Given the description of an element on the screen output the (x, y) to click on. 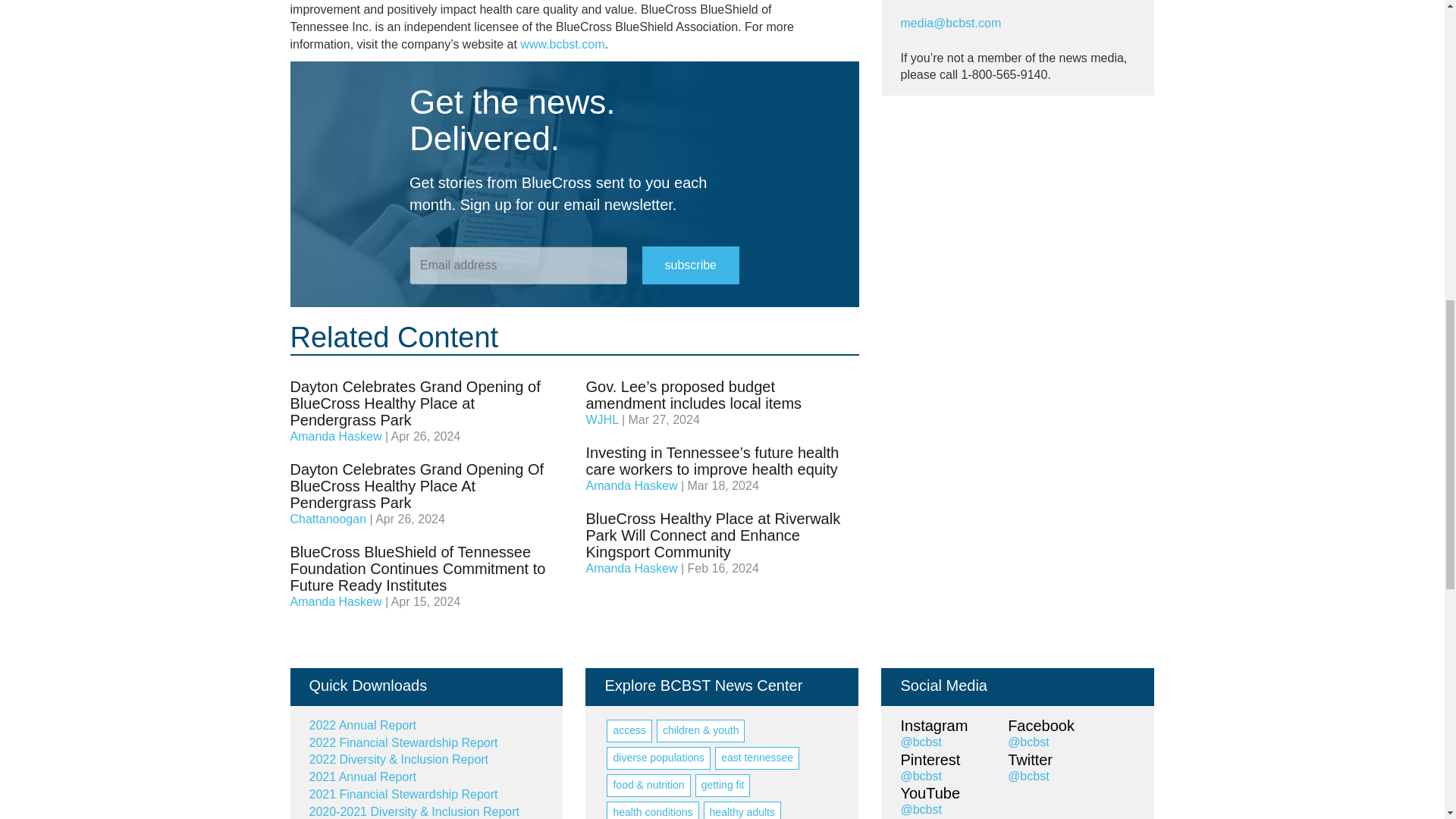
subscribe (690, 265)
www.bcbst.com (561, 43)
subscribe (690, 265)
2022 Annual Report (362, 725)
